Given the description of an element on the screen output the (x, y) to click on. 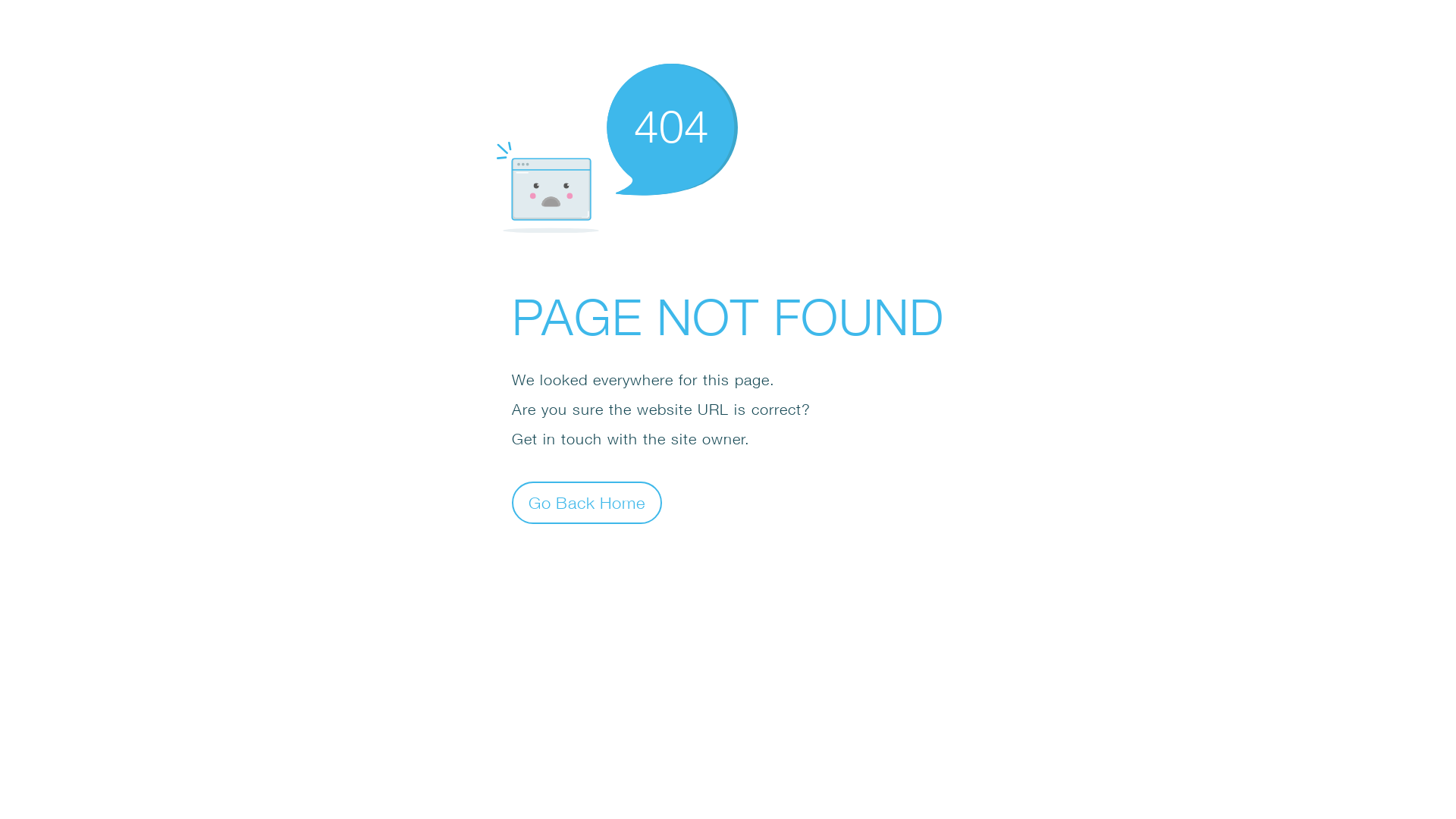
Go Back Home Element type: text (586, 502)
